Given the description of an element on the screen output the (x, y) to click on. 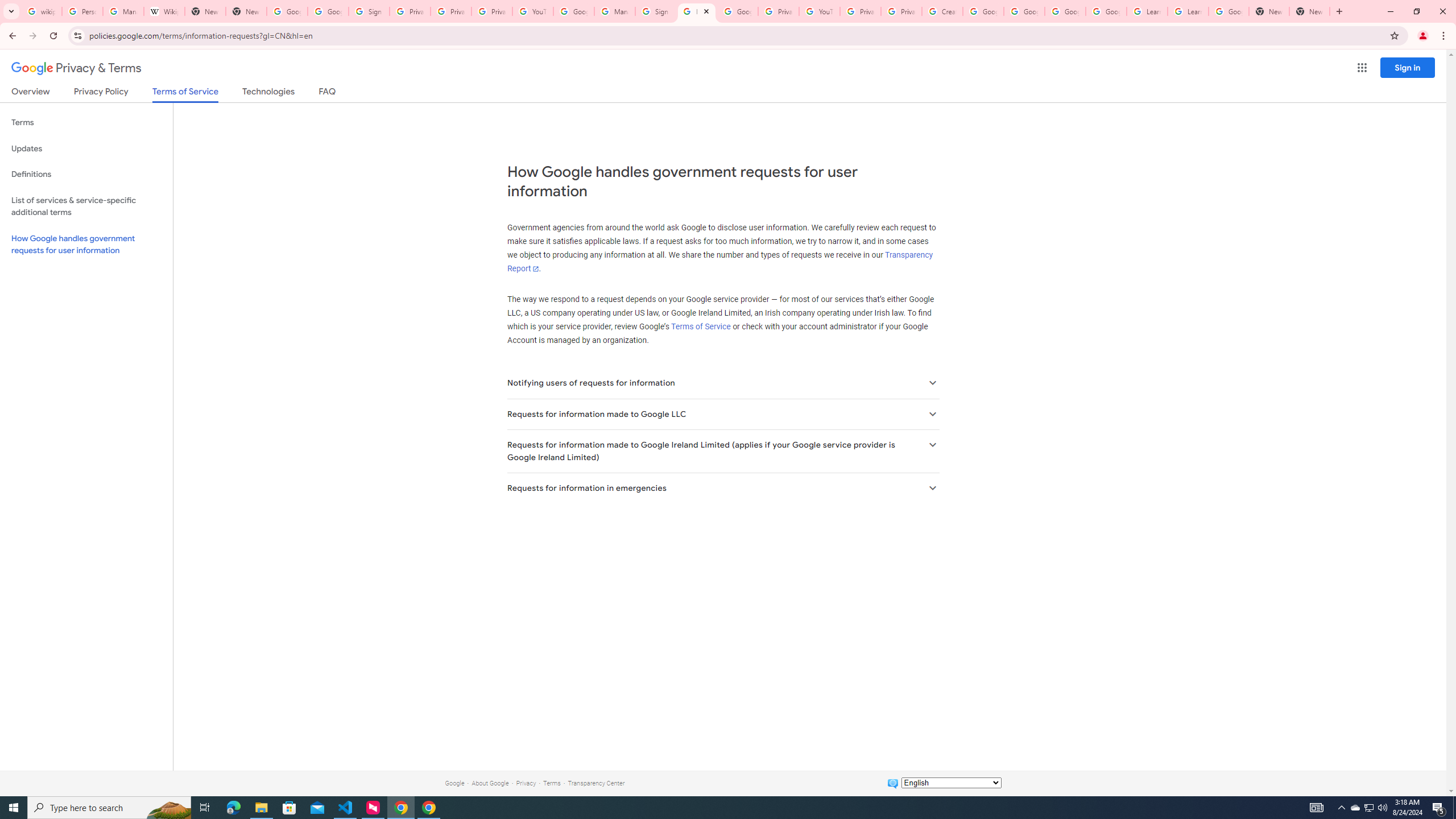
Transparency Report (719, 262)
Sign in - Google Accounts (655, 11)
Google Account Help (1023, 11)
Sign in - Google Accounts (368, 11)
Google Account Help (983, 11)
